Given the description of an element on the screen output the (x, y) to click on. 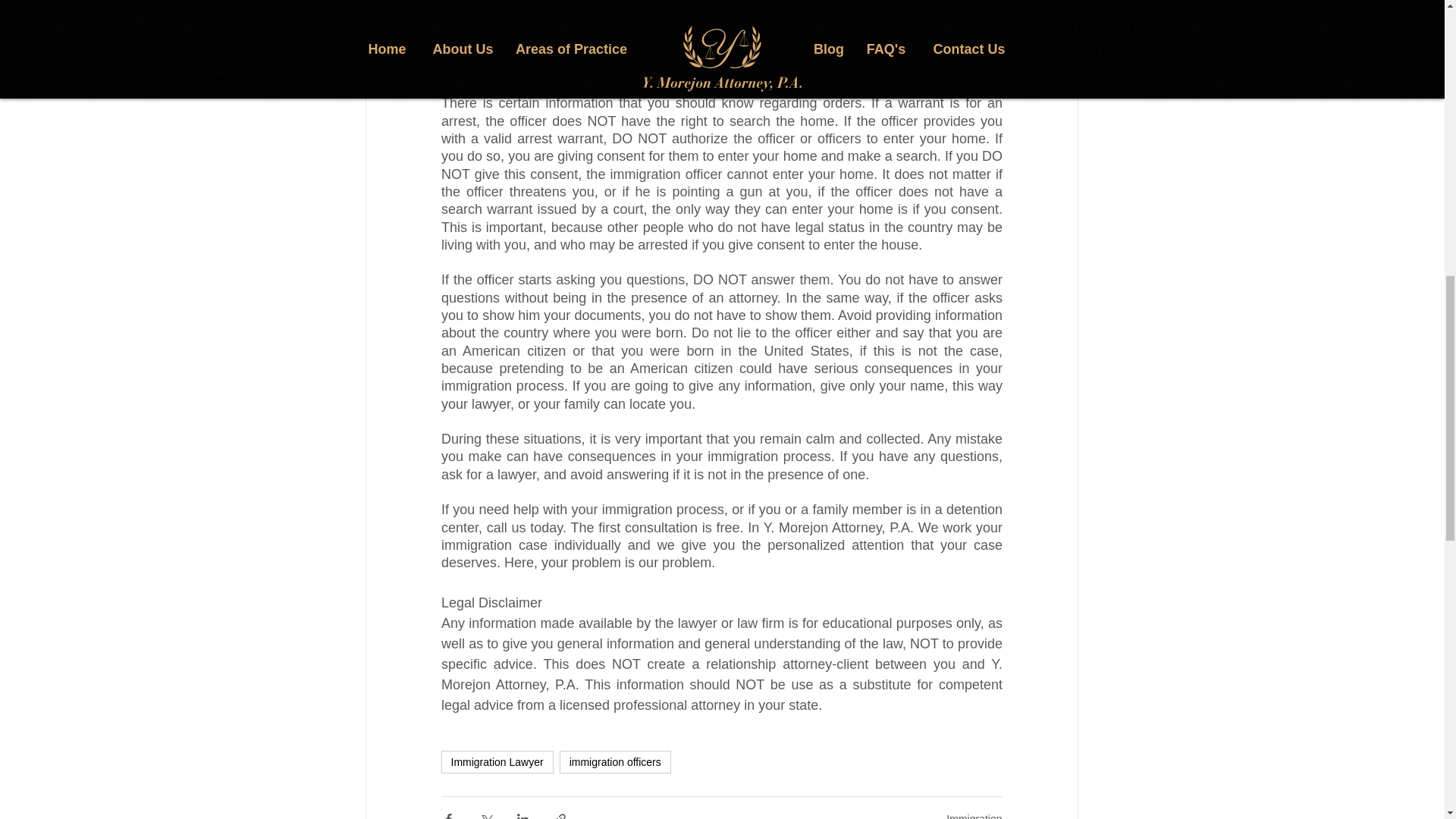
Immigration Lawyer (497, 762)
Immigration (973, 816)
immigration officers (615, 762)
